Given the description of an element on the screen output the (x, y) to click on. 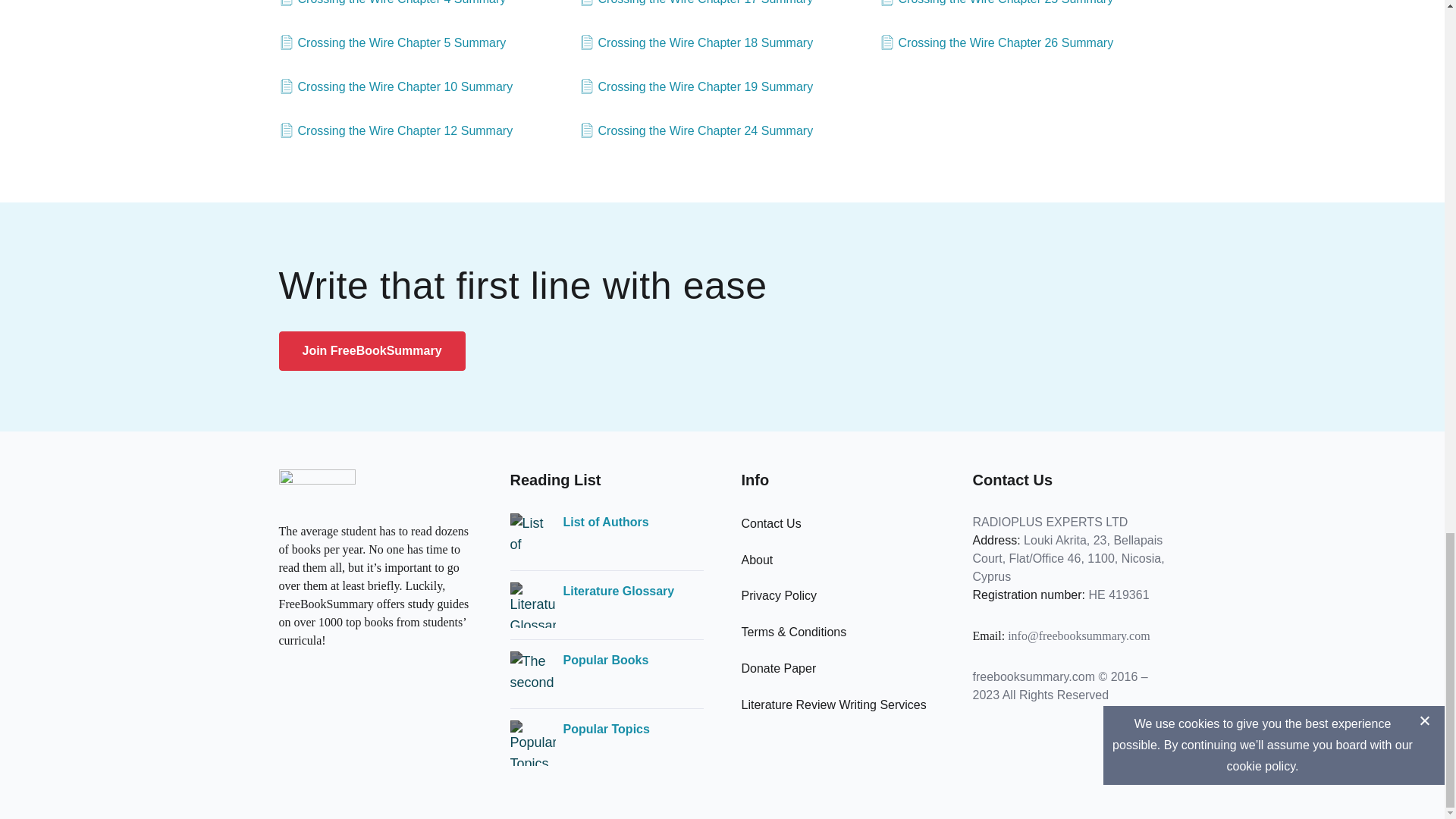
Crossing the Wire Chapter 24 Summary (696, 131)
Crossing the Wire Chapter 18 Summary (696, 43)
Crossing the Wire Chapter 12 Summary (396, 131)
Popular Books (604, 660)
Literature Glossary (618, 591)
Donate Paper (778, 667)
Crossing the Wire Chapter 10 Summary (396, 86)
Popular Topics (605, 729)
Contact Us (771, 522)
Crossing the Wire Chapter 26 Summary (996, 43)
